Given the description of an element on the screen output the (x, y) to click on. 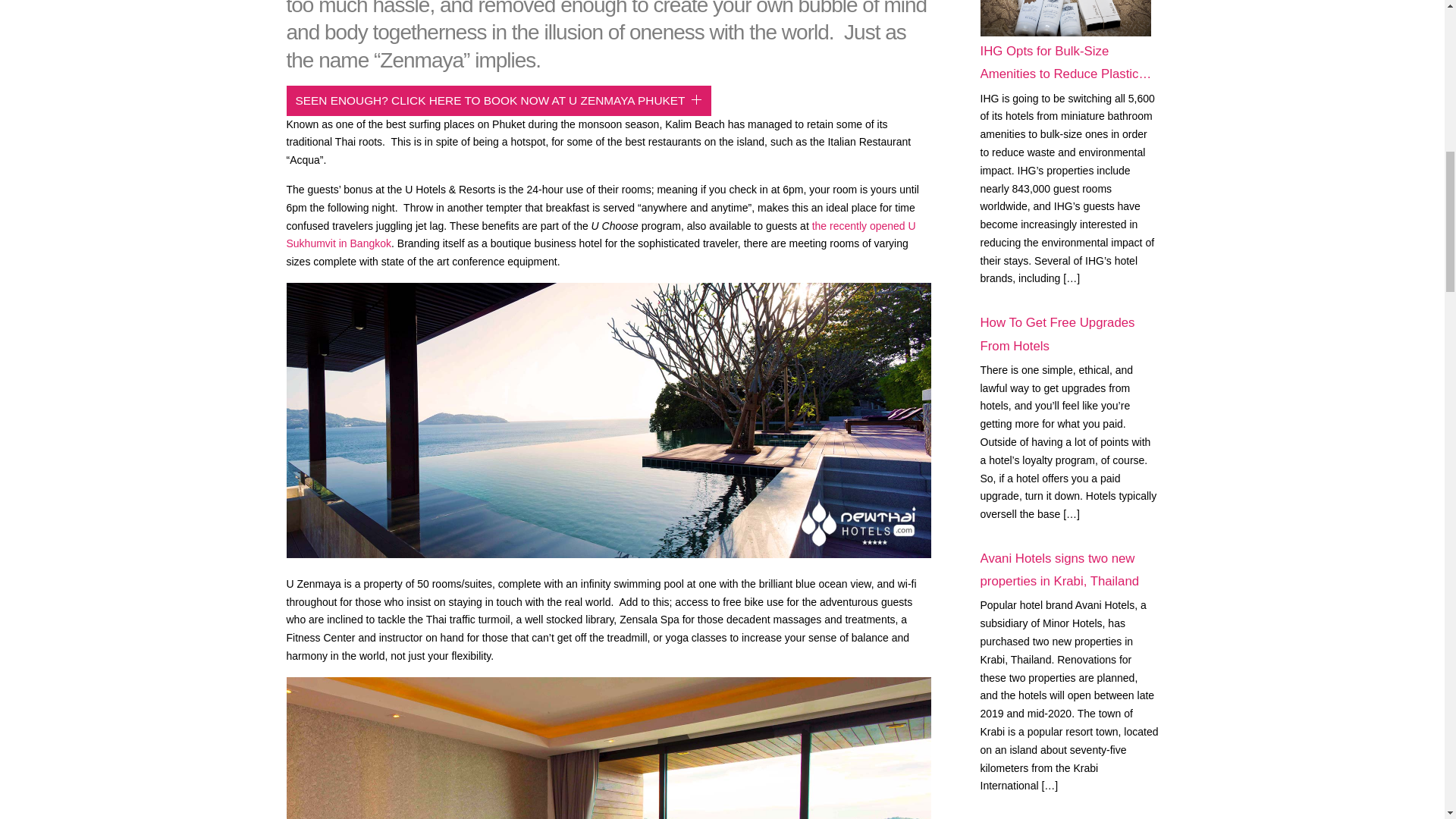
the recently opened U Sukhumvit in Bangkok (600, 235)
IHG Opts for Bulk-Size Amenities to Reduce Plastic Waste (1064, 18)
SEEN ENOUGH? CLICK HERE TO BOOK NOW AT U ZENMAYA PHUKET (498, 100)
